Given the description of an element on the screen output the (x, y) to click on. 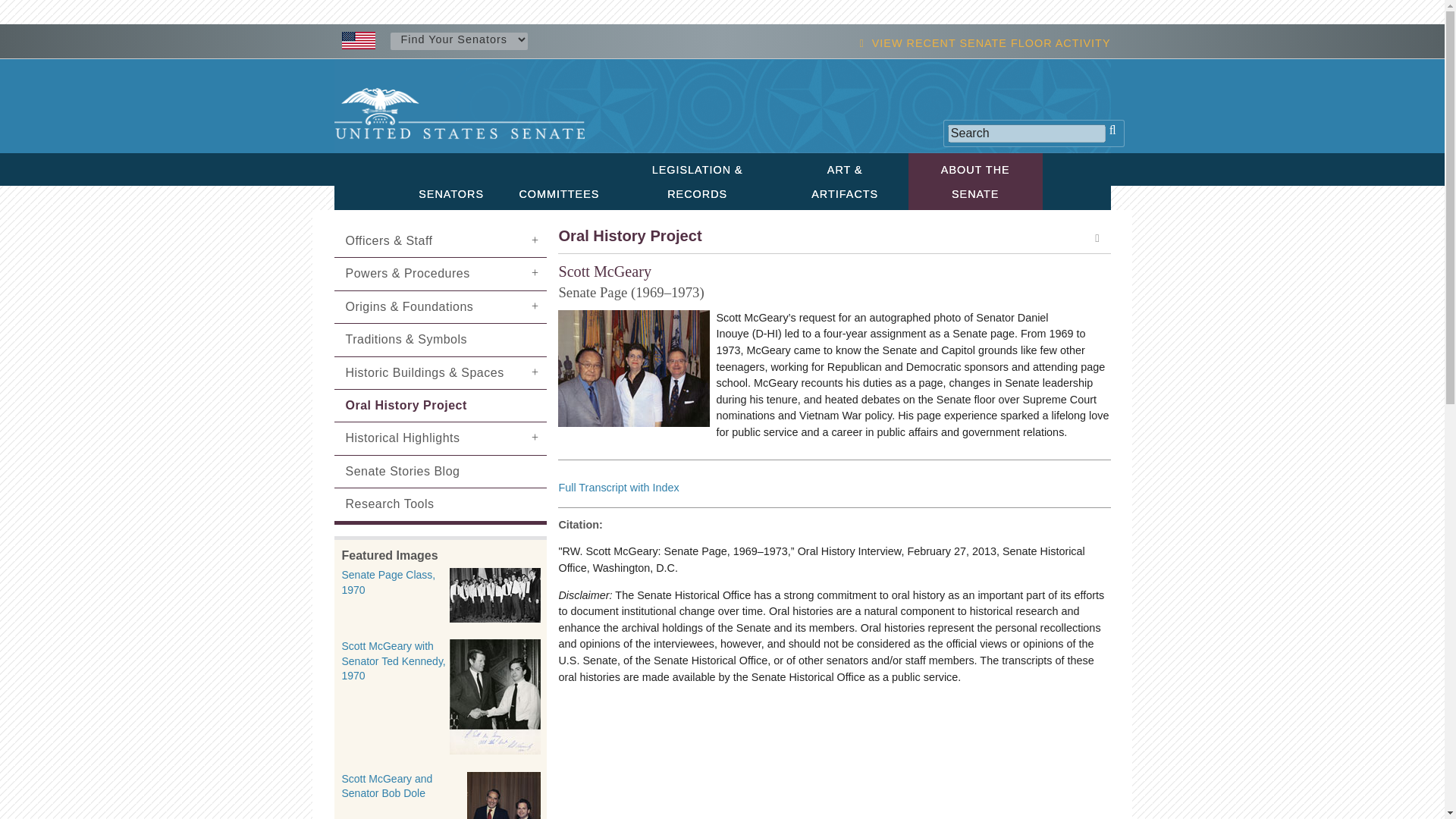
ABOUT THE SENATE (975, 181)
Search (1026, 133)
VIEW RECENT SENATE FLOOR ACTIVITY (991, 42)
COMMITTEES (556, 193)
SENATORS (450, 193)
